Given the description of an element on the screen output the (x, y) to click on. 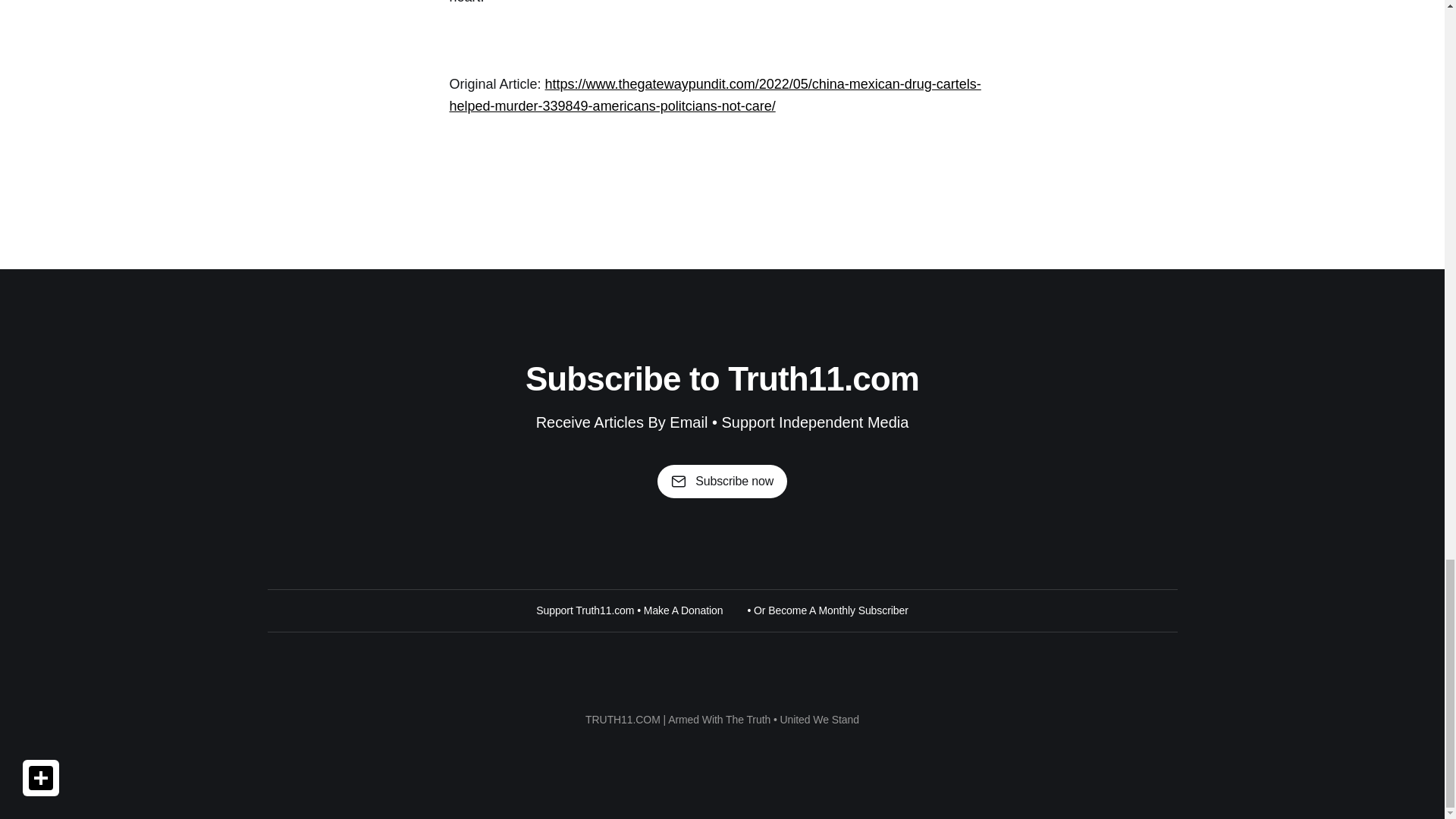
Subscribe now (722, 481)
